Given the description of an element on the screen output the (x, y) to click on. 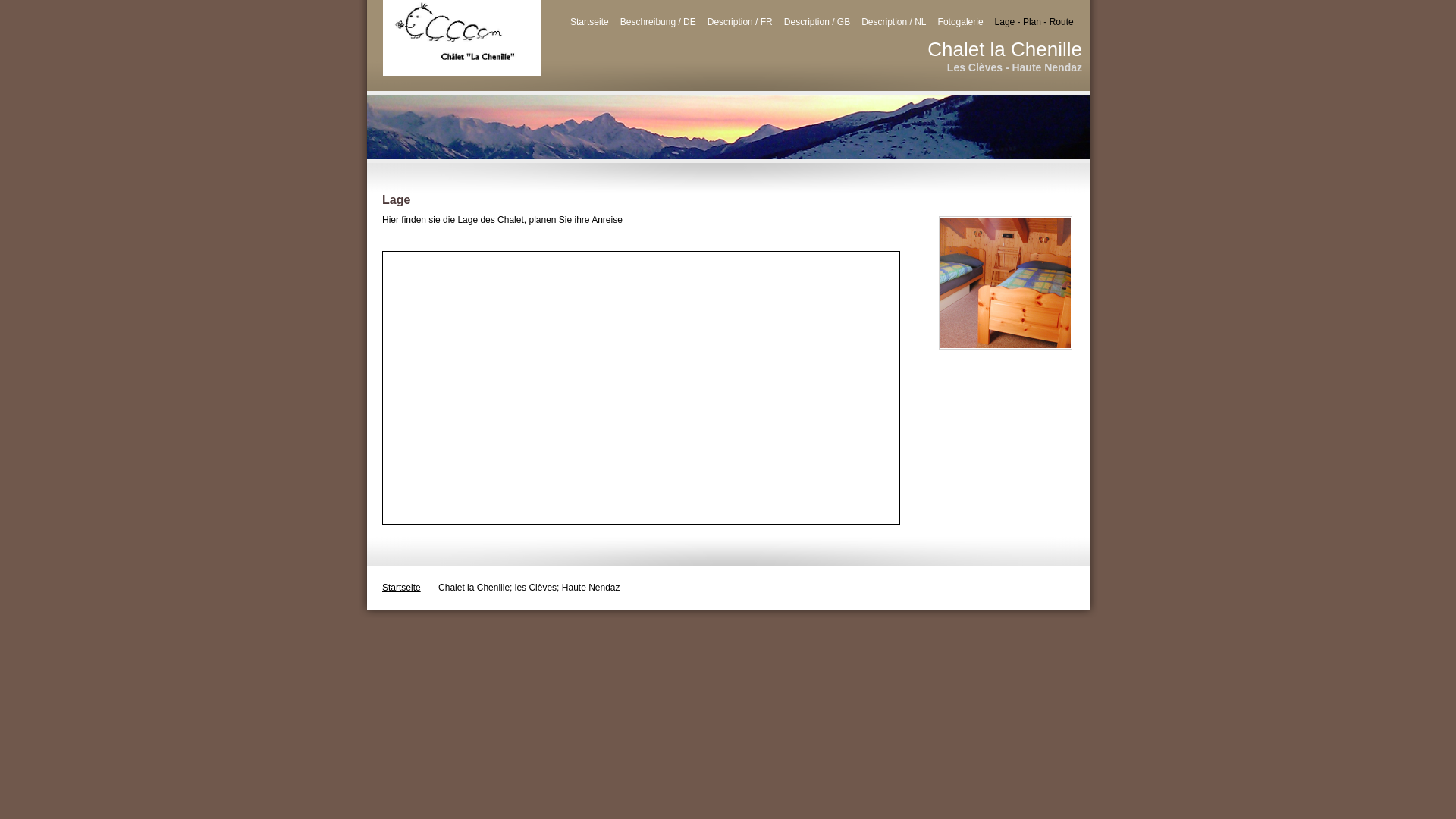
Description / NL Element type: text (893, 21)
Startseite Element type: text (401, 587)
Description / FR Element type: text (739, 21)
Description / GB Element type: text (817, 21)
Lage - Plan - Route Element type: text (1033, 21)
Startseite Element type: text (589, 21)
Beschreibung / DE Element type: text (658, 21)
Fotogalerie Element type: text (960, 21)
